Given the description of an element on the screen output the (x, y) to click on. 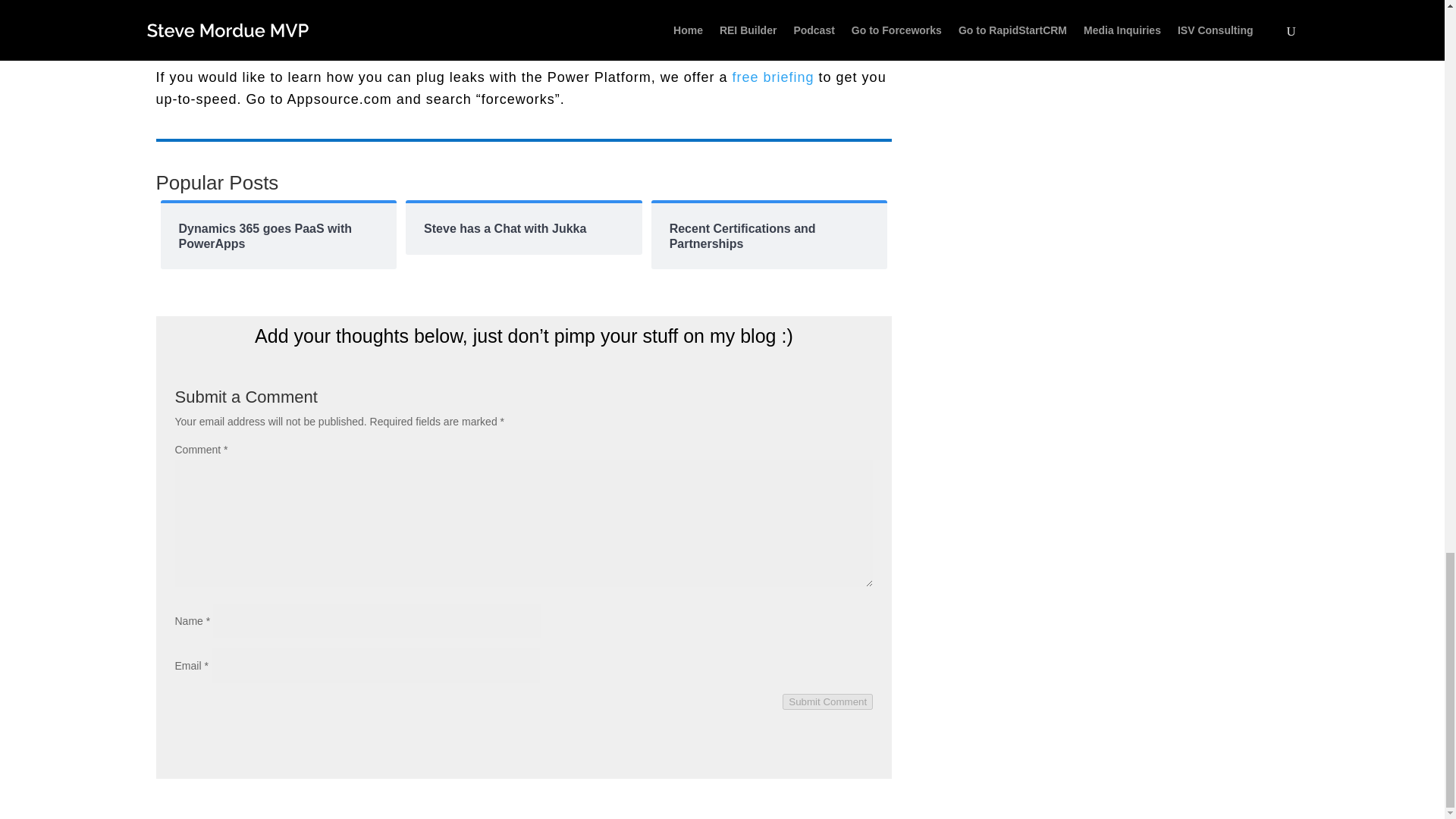
free briefing (772, 77)
Submit Comment (827, 701)
Recent Certifications and Partnerships (769, 235)
Steve has a Chat with Jukka (523, 228)
Dynamics 365 goes PaaS with PowerApps (278, 235)
